Given the description of an element on the screen output the (x, y) to click on. 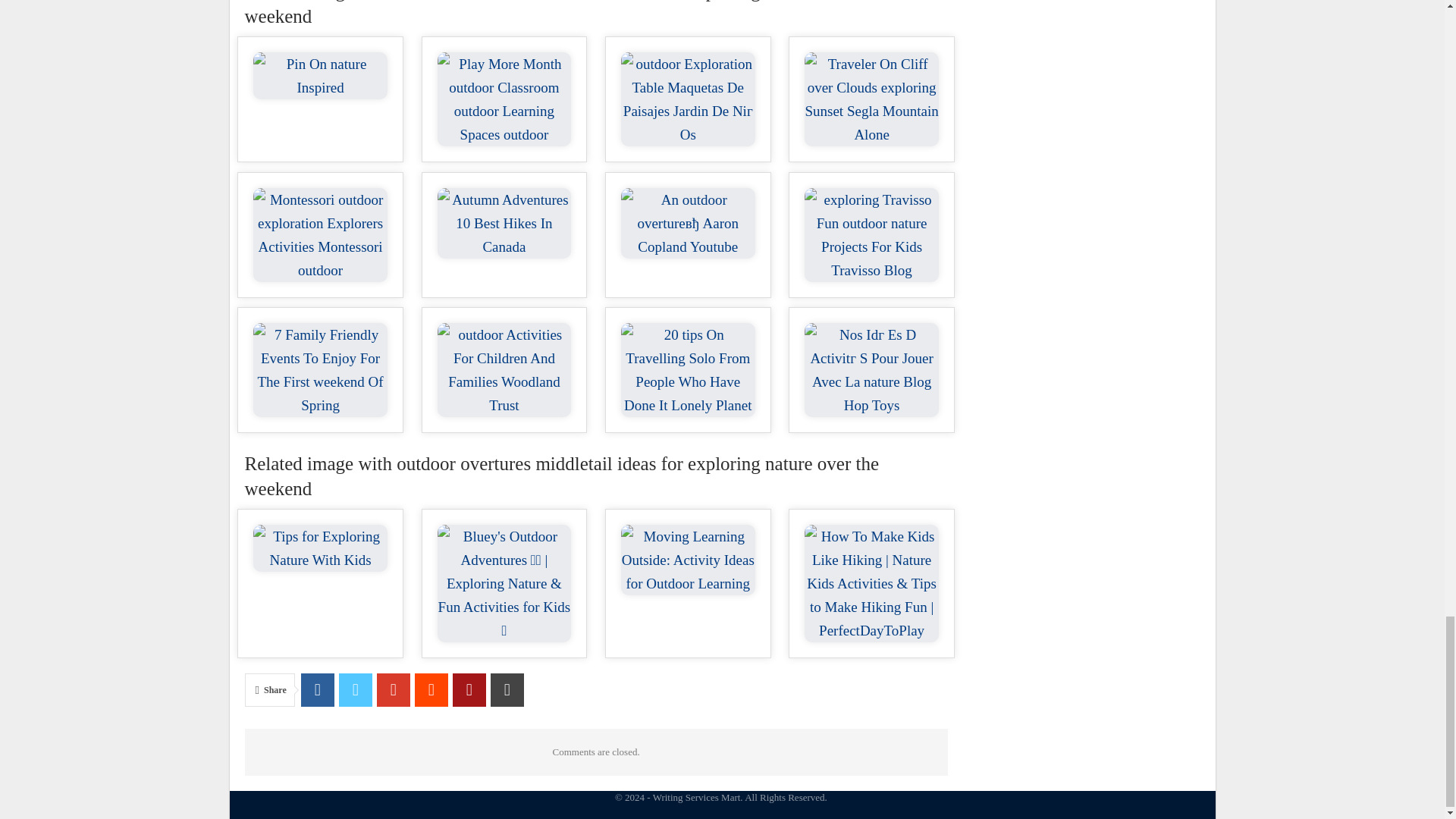
Pin On nature Inspired (320, 75)
Autumn Adventures 10 Best Hikes In Canada (505, 223)
